Given the description of an element on the screen output the (x, y) to click on. 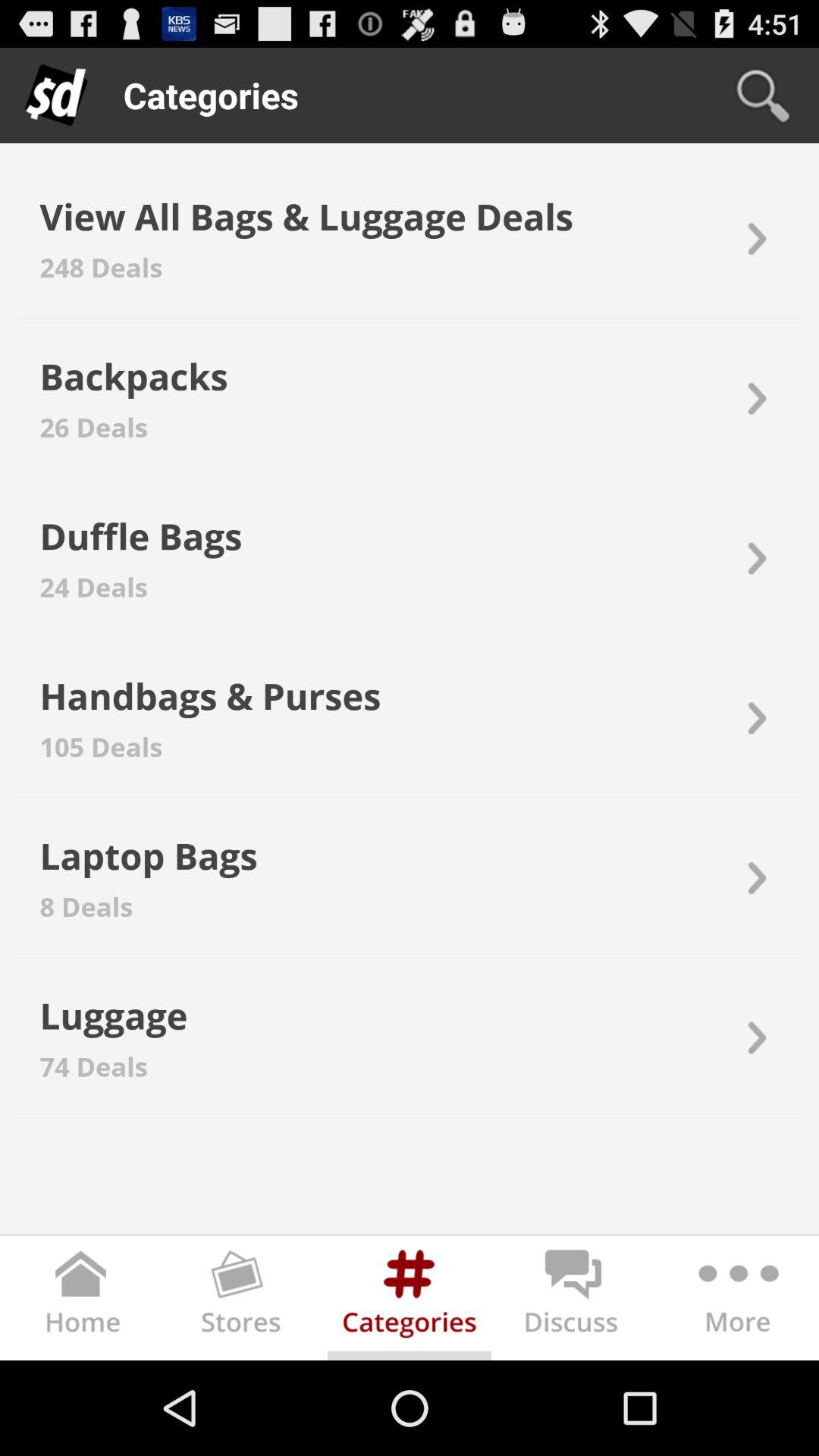
show categories (409, 1301)
